Given the description of an element on the screen output the (x, y) to click on. 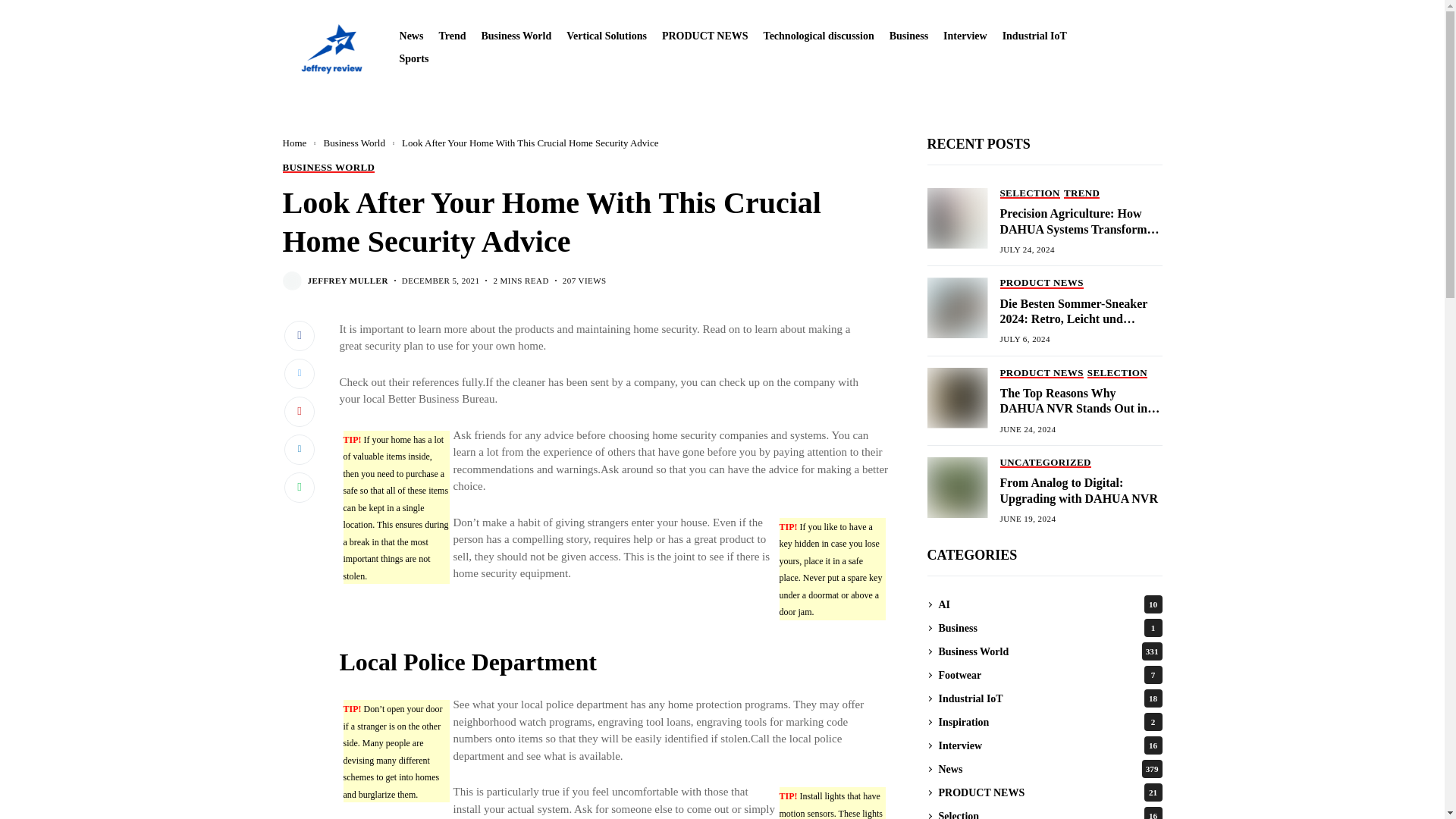
News (410, 35)
The Top Reasons Why DAHUA NVR Stands Out in the Market (956, 396)
Precision Agriculture: How DAHUA Systems Transform Farming (956, 217)
Business World (515, 35)
Industrial IoT (1035, 35)
Interview (965, 35)
Trend (451, 35)
From Analog to Digital: Upgrading with DAHUA NVR (956, 487)
Sports (413, 58)
Technological discussion (818, 35)
